Given the description of an element on the screen output the (x, y) to click on. 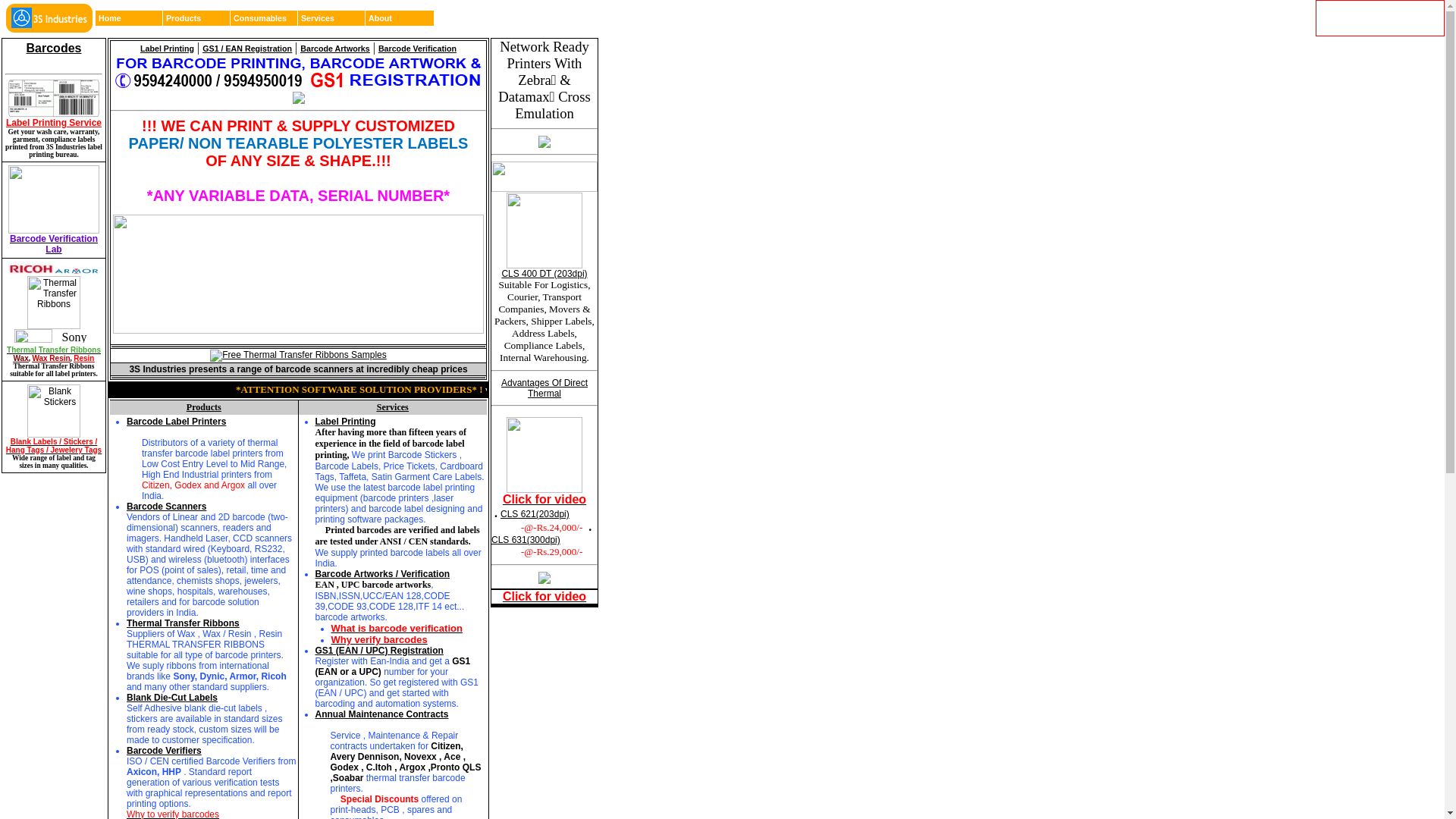
Home Element type: text (129, 17)
contact us for details... Element type: text (986, 389)
CLS 631(300dpi) Element type: text (525, 539)
Blank Labels Element type: hover (53, 434)
Click for video Element type: text (544, 500)
CLS 621(203dpi) Element type: text (534, 513)
CLS 400 DT (203dpi) Element type: text (543, 273)
Wax Resin Element type: text (50, 357)
Barcode Artworks Element type: text (334, 48)
Consumables Element type: text (264, 17)
Products Element type: text (197, 17)
Label Printing Element type: text (345, 421)
Barcodes Element type: text (53, 48)
Barcode Verification Lab Element type: text (53, 243)
Services Element type: text (332, 17)
Barcode Artworks / Verification Element type: text (382, 573)
Label Printing Element type: text (167, 48)
Why verify barcodes Element type: text (378, 639)
Thermal Transfer Ribbons Element type: text (53, 349)
GS1 / EAN Registration Element type: text (246, 48)
What is barcode verification Element type: text (395, 628)
Barcode Scanners Element type: text (166, 506)
Advantages Of Direct Thermal Element type: text (544, 387)
Services Element type: text (392, 406)
Blank Labels / Stickers / Hang Tags / Jewelery Tags Element type: text (53, 445)
Wax Element type: text (20, 357)
About Element type: text (399, 17)
Barcode Verifiers Element type: text (163, 750)
Barcode Label Printers Element type: text (175, 421)
Thermal Transfer Ribbons Element type: text (182, 623)
Blank Die-Cut Labels Element type: text (171, 697)
Resin Element type: text (83, 357)
Label Printing Service Element type: text (53, 100)
Products Element type: text (203, 406)
Annual Maintenance Contracts Element type: text (381, 714)
Click for video Element type: text (544, 597)
GS1 (EAN / UPC) Registration Element type: text (379, 650)
Barcode Verification Element type: text (417, 48)
